Given the description of an element on the screen output the (x, y) to click on. 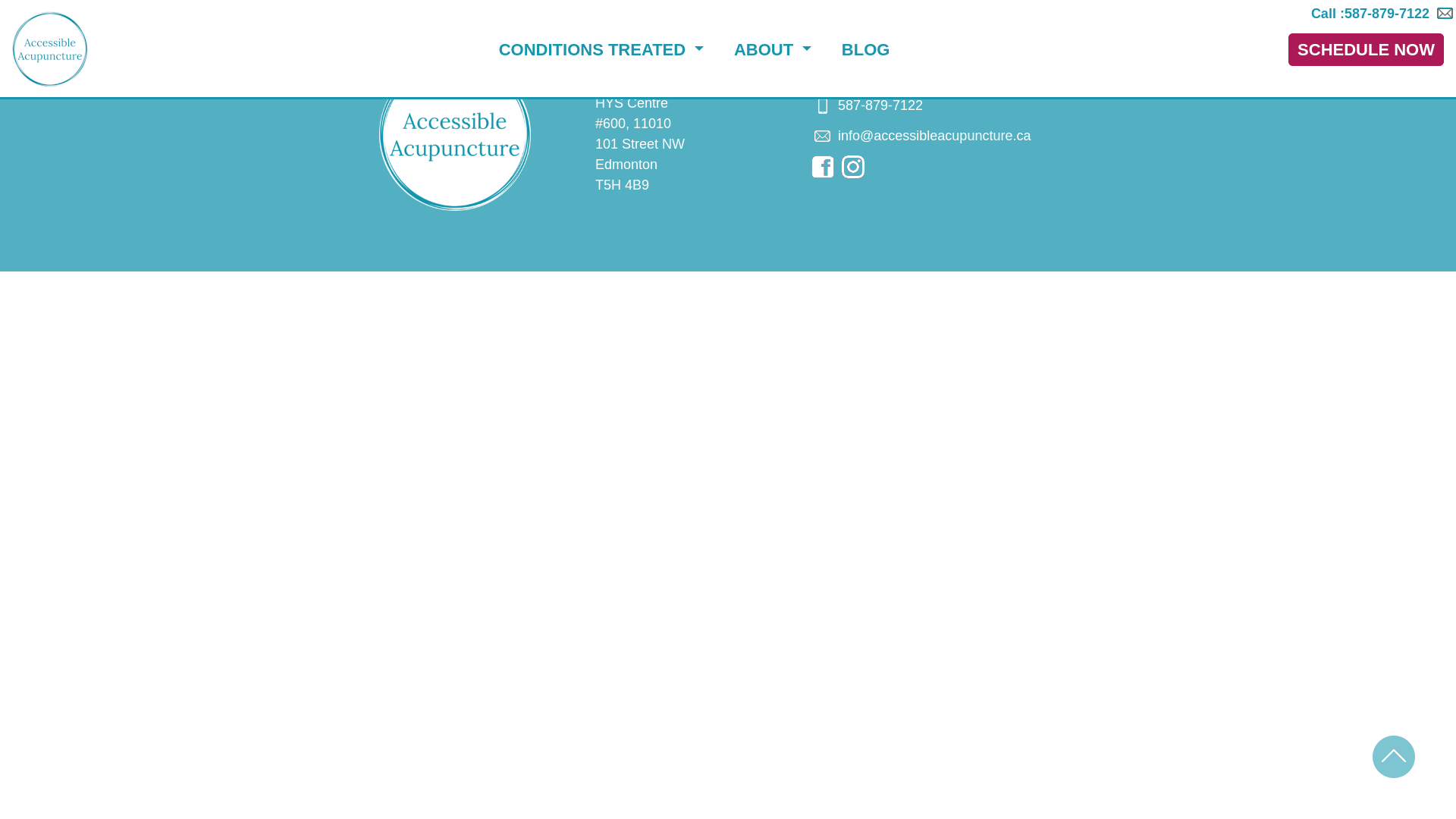
Call :587-879-7122 Element type: text (1370, 12)
CONDITIONS TREATED Element type: text (600, 48)
info@accessibleacupuncture.ca Element type: text (933, 135)
BLOG Element type: text (865, 48)
Follow us on facebook Element type: hover (822, 166)
Email us Element type: hover (822, 136)
587-879-7122 Element type: text (879, 104)
Check out our instagram feed Element type: hover (852, 166)
Call us Element type: hover (822, 105)
SCHEDULE NOW Element type: text (1365, 49)
Back to top Element type: hover (1393, 756)
ABOUT Element type: text (772, 48)
Accessible Acupuncture Element type: hover (454, 134)
Accessible Acupuncture Element type: hover (49, 49)
